Given the description of an element on the screen output the (x, y) to click on. 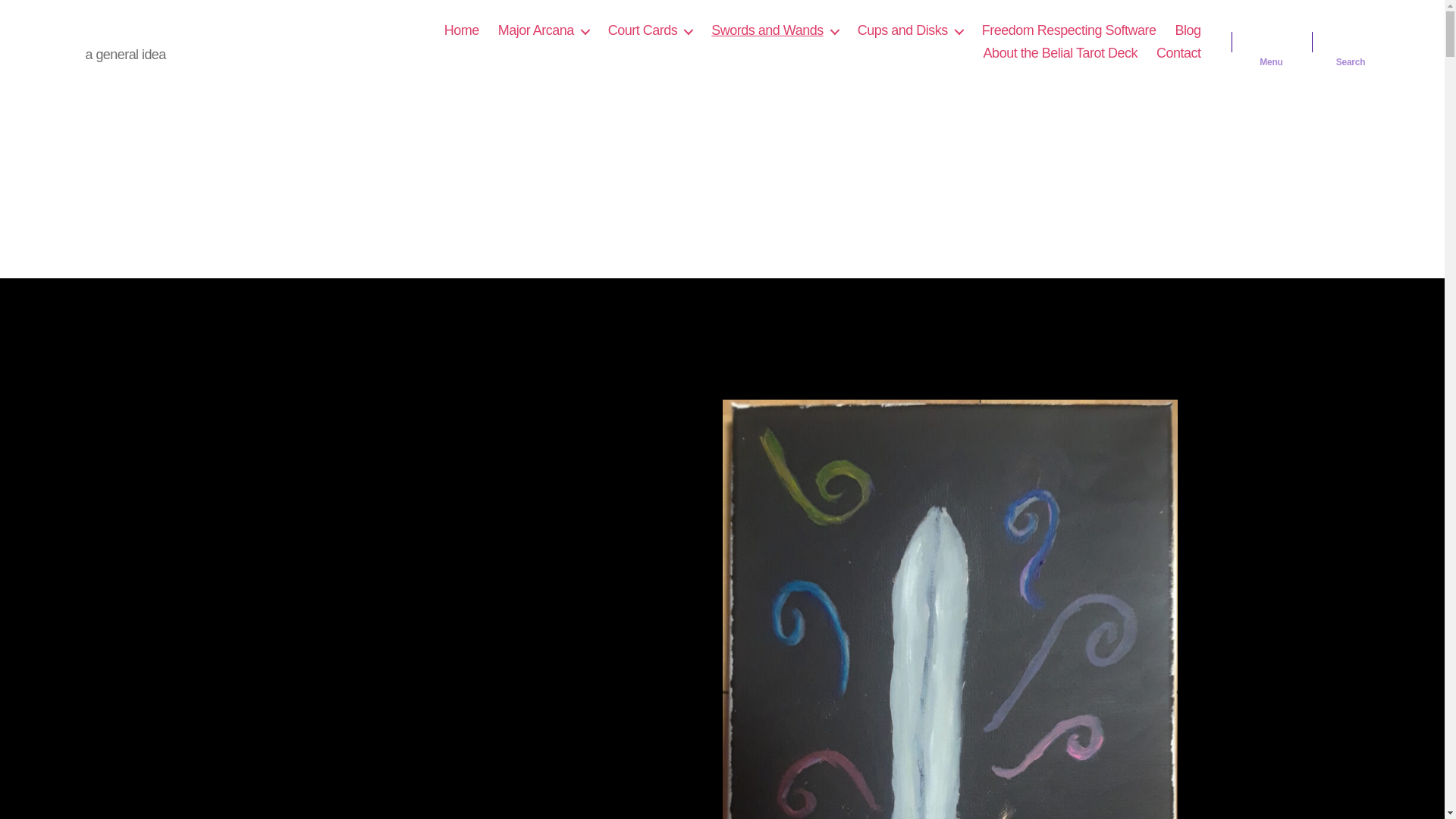
Major Arcana (543, 30)
Court Cards (650, 30)
Home (461, 30)
Tarot Card Meanings (167, 30)
